Given the description of an element on the screen output the (x, y) to click on. 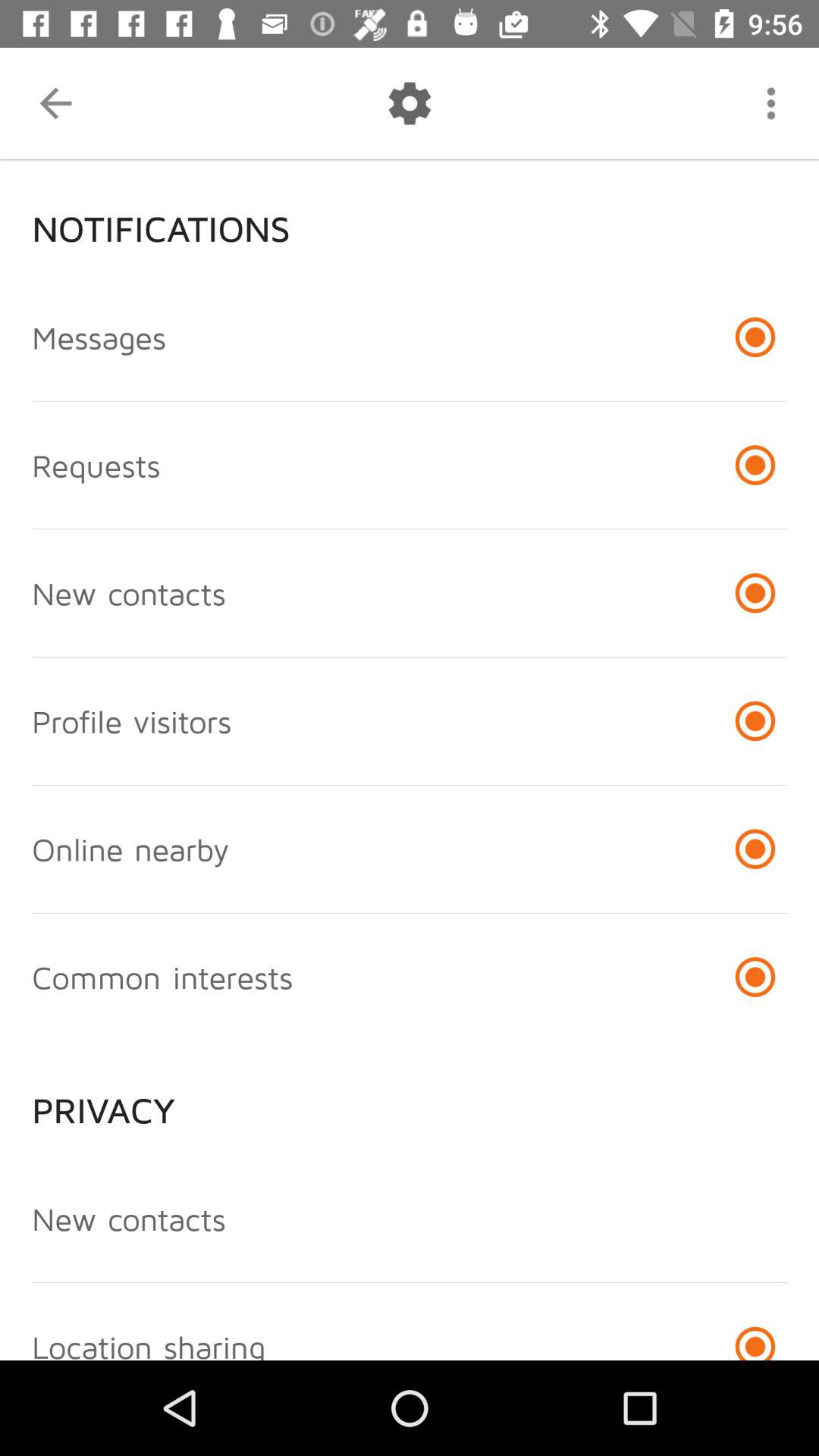
turn off the notifications (409, 216)
